Given the description of an element on the screen output the (x, y) to click on. 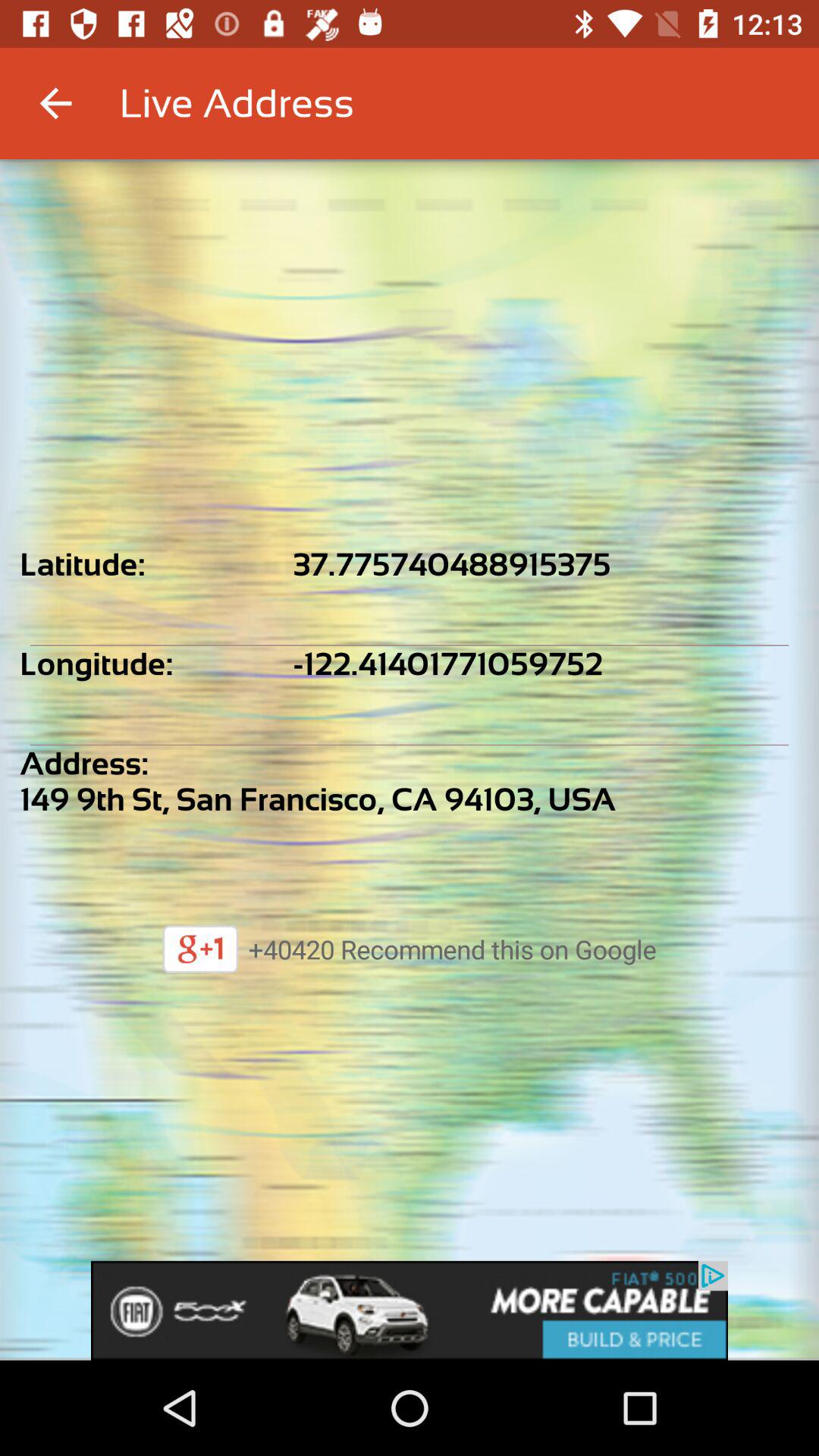
close the app (409, 1310)
